Given the description of an element on the screen output the (x, y) to click on. 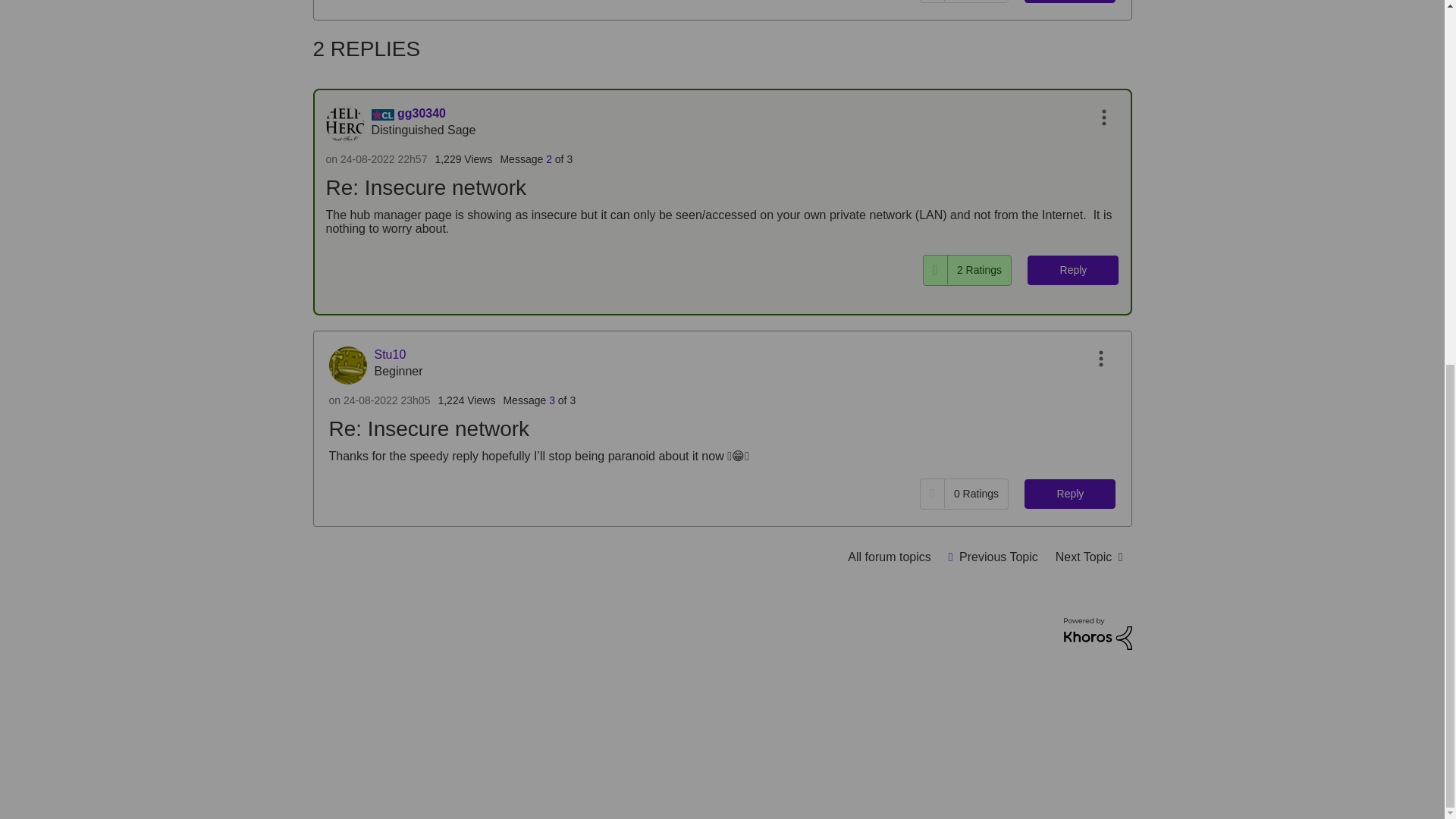
The total number of ratings this post has received. (975, 0)
